Given the description of an element on the screen output the (x, y) to click on. 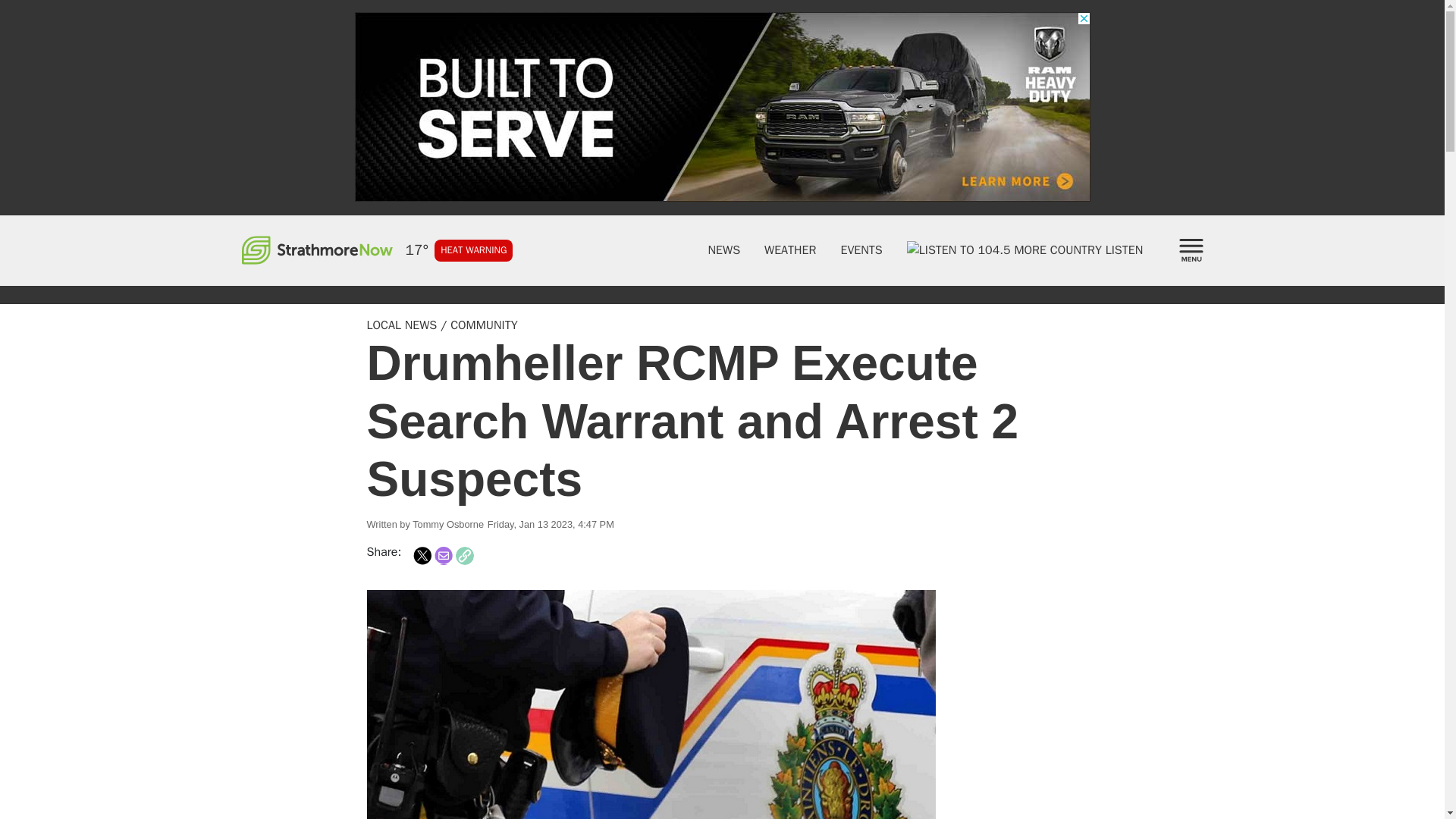
Copy Link (464, 556)
Share to Email (442, 556)
